Given the description of an element on the screen output the (x, y) to click on. 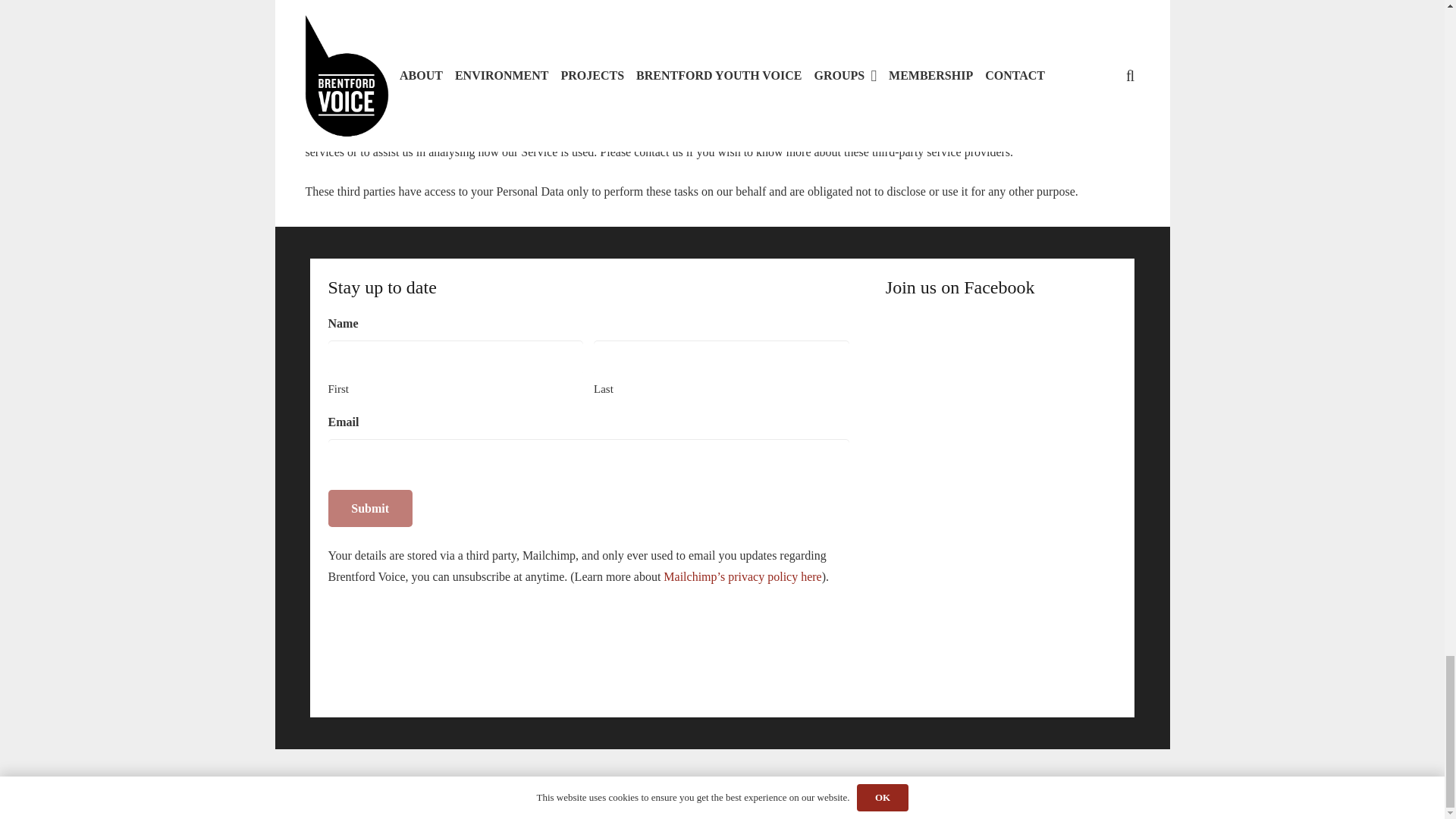
LINKS (478, 783)
GDPR (521, 783)
Submit (369, 508)
Submit (369, 508)
